Given the description of an element on the screen output the (x, y) to click on. 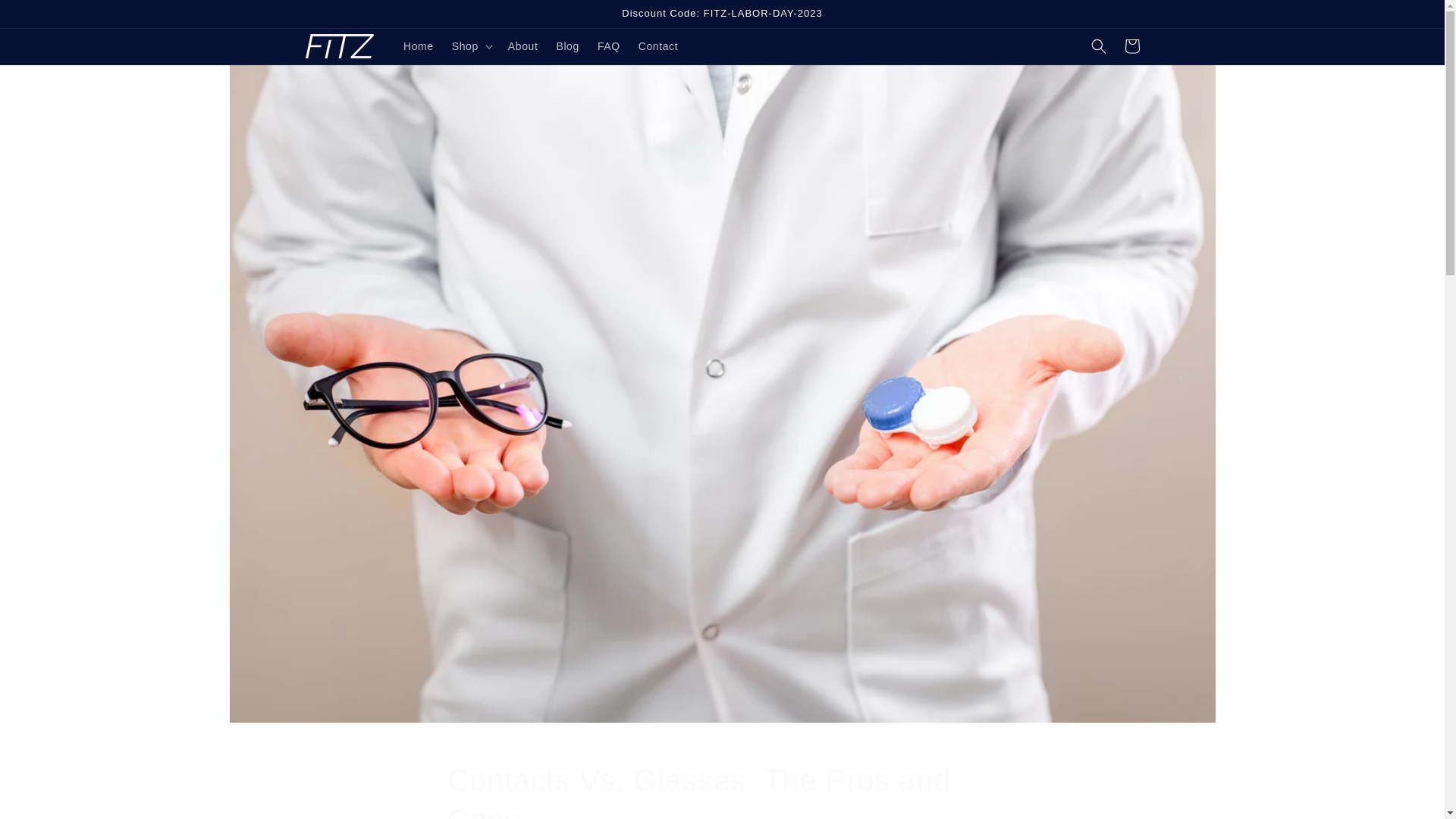
About (523, 46)
Blog (567, 46)
Skip to content (45, 17)
Home (721, 789)
FAQ (418, 46)
Contact (608, 46)
Cart (657, 46)
